Given the description of an element on the screen output the (x, y) to click on. 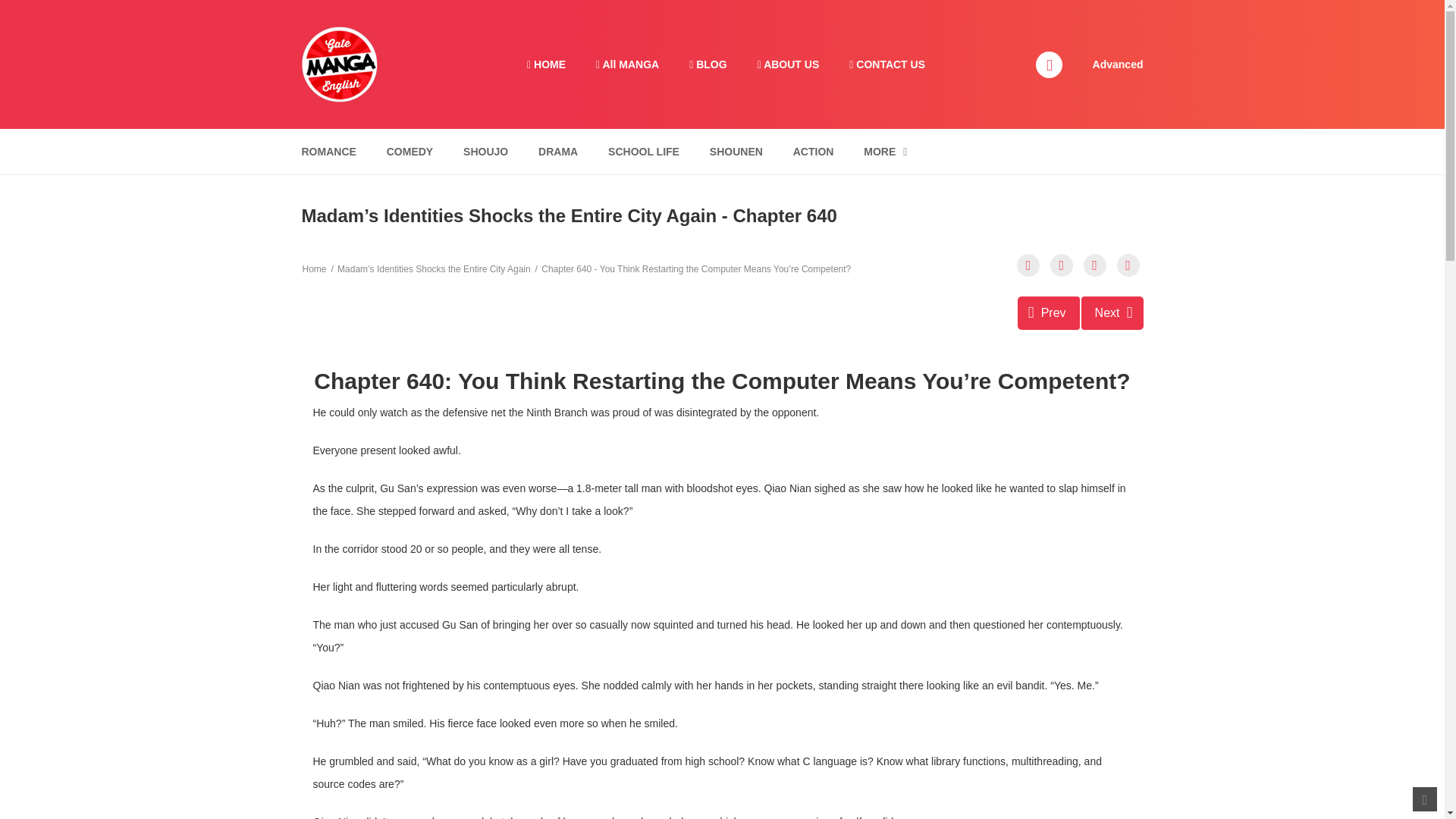
DRAMA (558, 151)
ROMANCE (328, 151)
Advanced (1117, 63)
ABOUT US (788, 64)
ACTION (813, 151)
All MANGA (627, 64)
SHOUJO (485, 151)
Chapter 639 (1048, 313)
COMEDY (409, 151)
CONTACT US (887, 64)
Search (970, 9)
Gate Manga (339, 63)
BLOG (707, 64)
SHOUNEN (736, 151)
SCHOOL LIFE (643, 151)
